Given the description of an element on the screen output the (x, y) to click on. 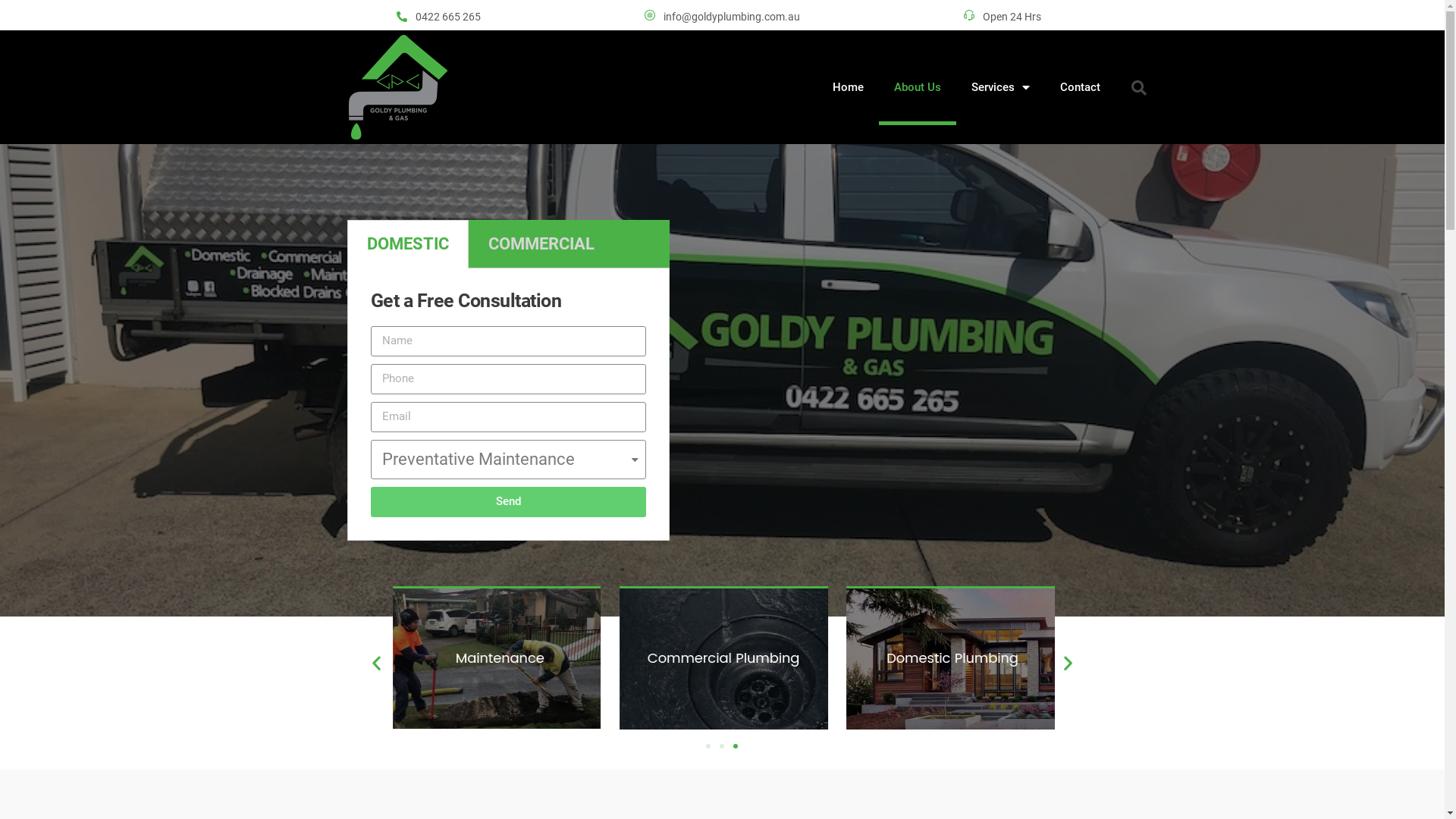
Send Element type: text (507, 501)
COMMERCIAL Element type: text (541, 243)
0422 665 265 Element type: text (246, 16)
Contact Element type: text (1079, 87)
Home Element type: text (847, 87)
Services Element type: text (999, 87)
info@goldyplumbing.com.au Element type: text (721, 16)
About Us Element type: text (916, 87)
DOMESTIC Element type: text (407, 243)
